Given the description of an element on the screen output the (x, y) to click on. 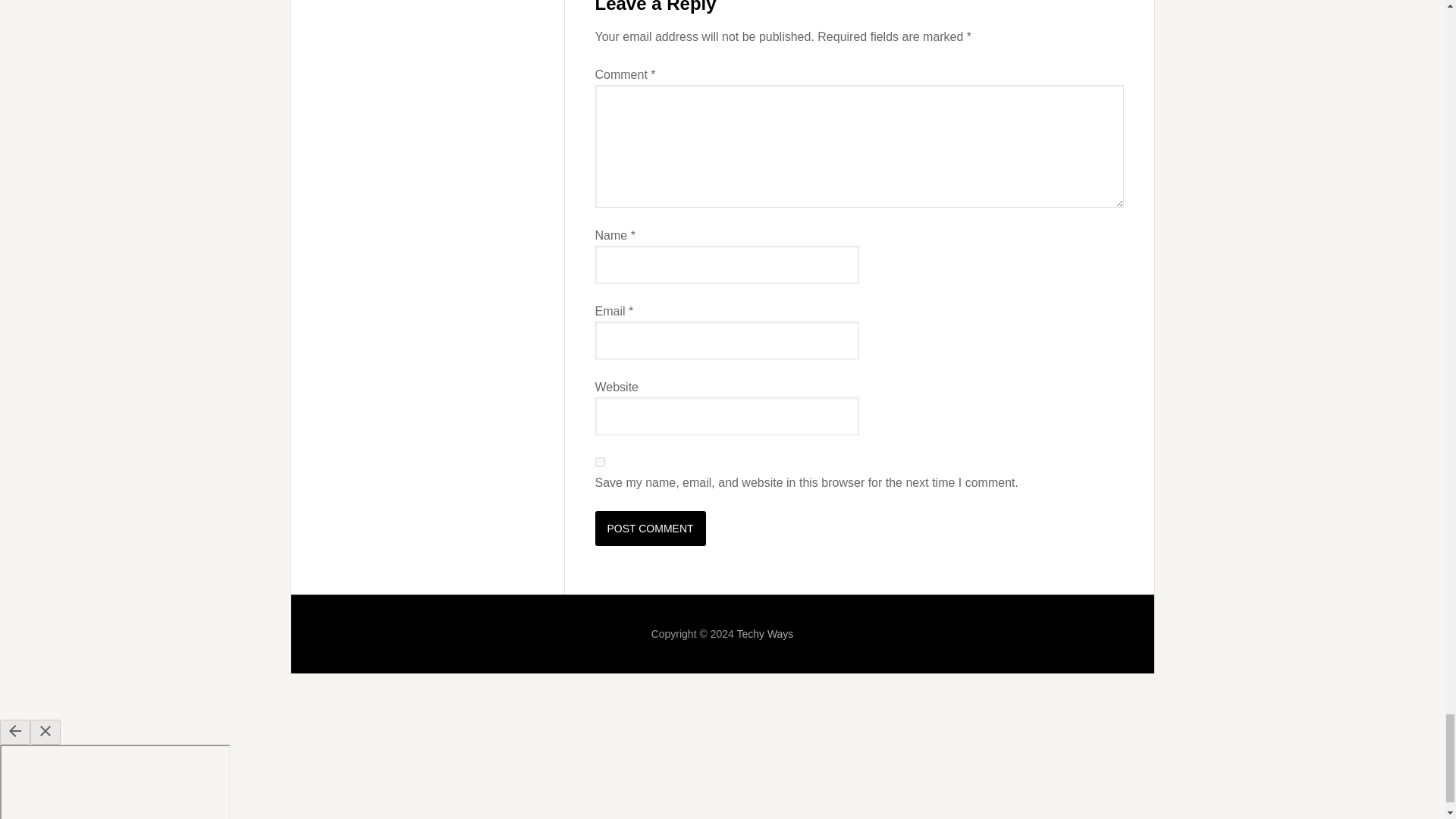
Post Comment (649, 528)
yes (599, 461)
